Given the description of an element on the screen output the (x, y) to click on. 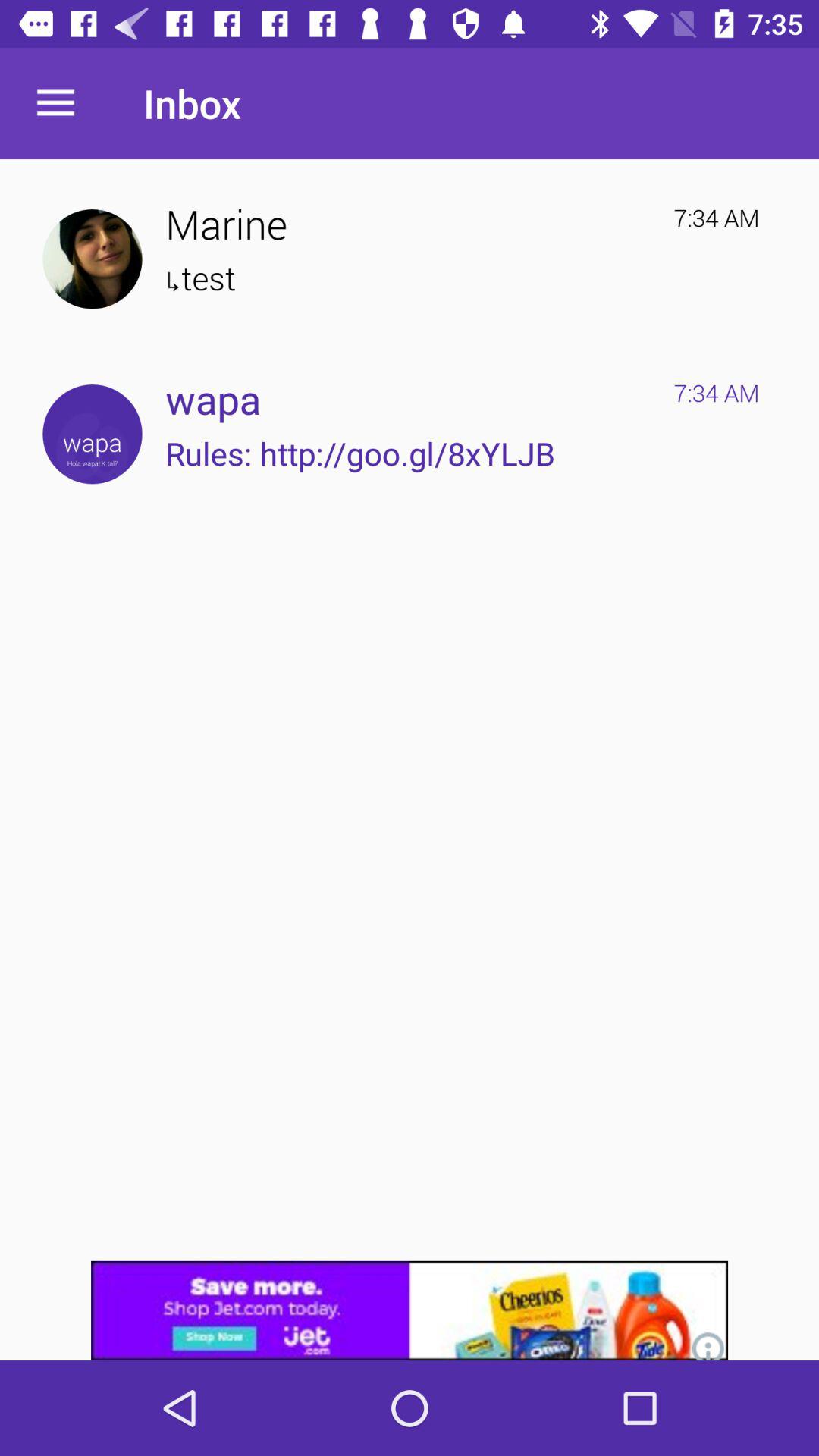
click photo button (92, 258)
